Given the description of an element on the screen output the (x, y) to click on. 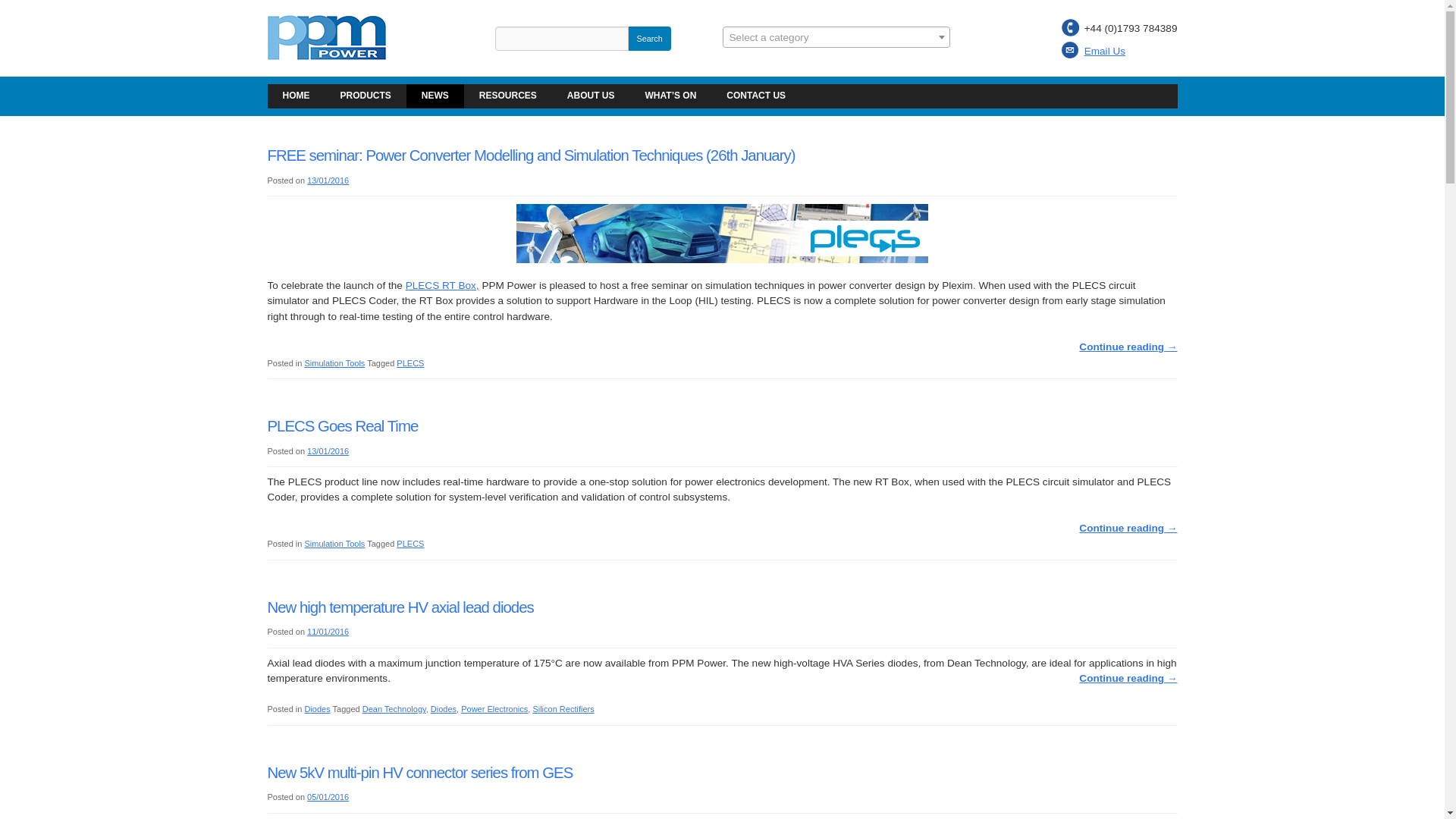
2:33 pm (328, 180)
1:49 pm (328, 450)
11:02 am (328, 796)
9:40 am (328, 631)
Permalink to New 5kV multi-pin HV connector series from GES (419, 772)
CONTACT US (755, 96)
Email Us (1104, 50)
Permalink to New high temperature HV axial lead diodes (399, 606)
ABOUT US (590, 96)
NEWS (435, 96)
HOME (295, 96)
Permalink to PLECS Goes Real Time (341, 425)
PRODUCTS (365, 96)
Search (648, 38)
Search (648, 38)
